Given the description of an element on the screen output the (x, y) to click on. 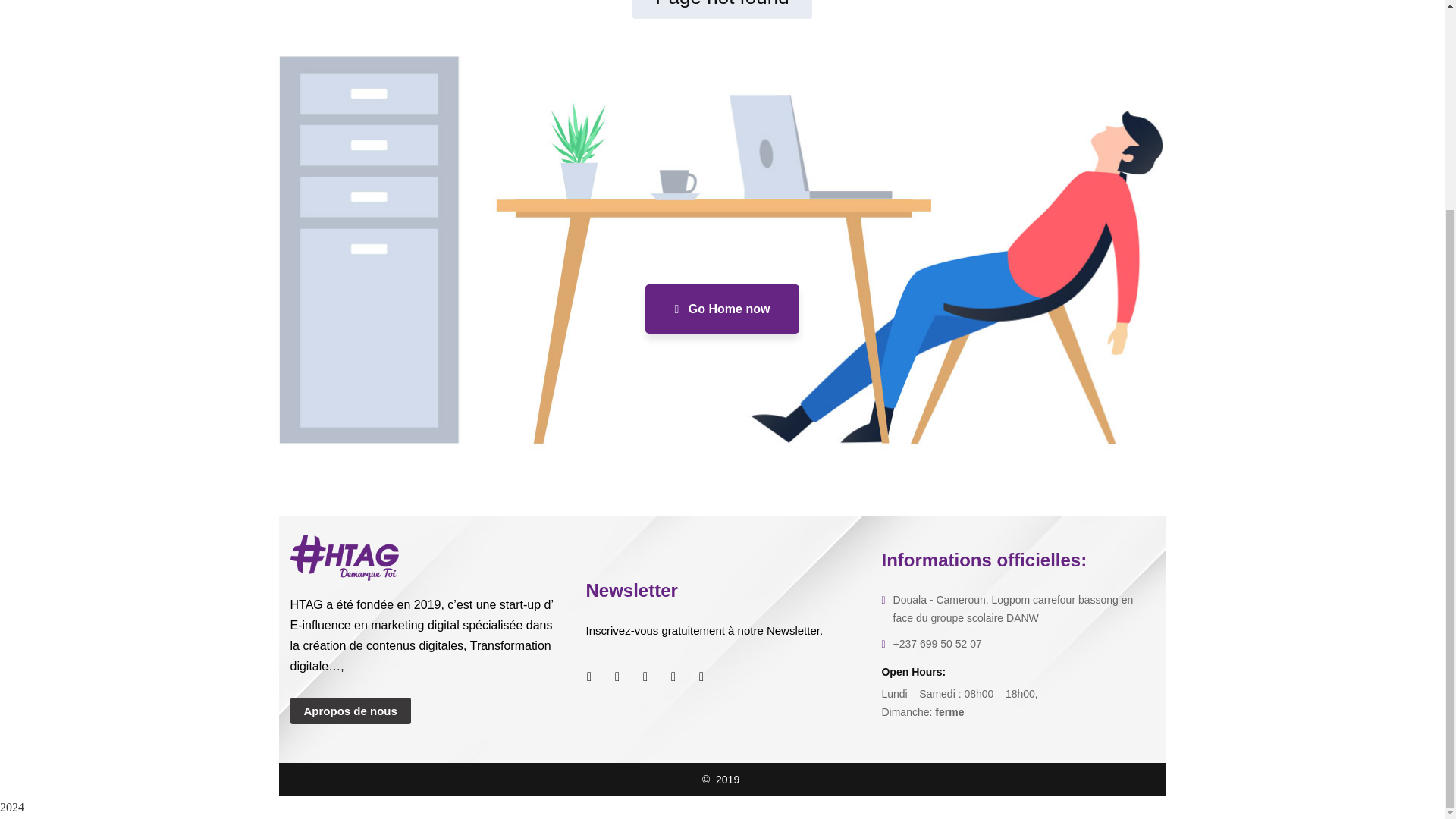
Go Home now (722, 308)
Page 4 (425, 635)
Apropos de nous (349, 710)
